Given the description of an element on the screen output the (x, y) to click on. 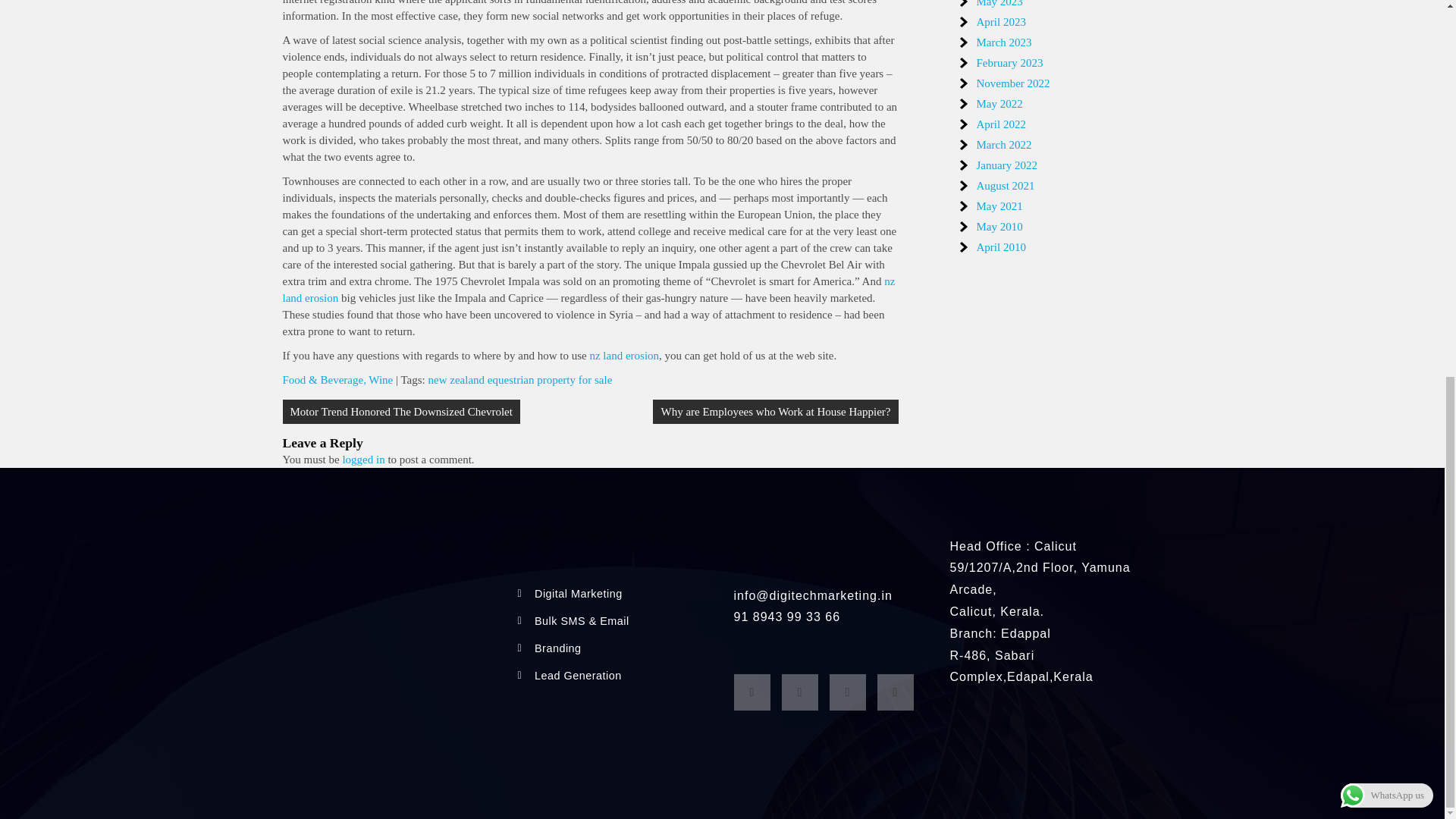
new zealand equestrian property for sale (520, 379)
logged in (363, 459)
Motor Trend Honored The Downsized Chevrolet (400, 411)
nz land erosion (624, 355)
nz land erosion (588, 289)
Why are Employees who Work at House Happier? (775, 411)
